Given the description of an element on the screen output the (x, y) to click on. 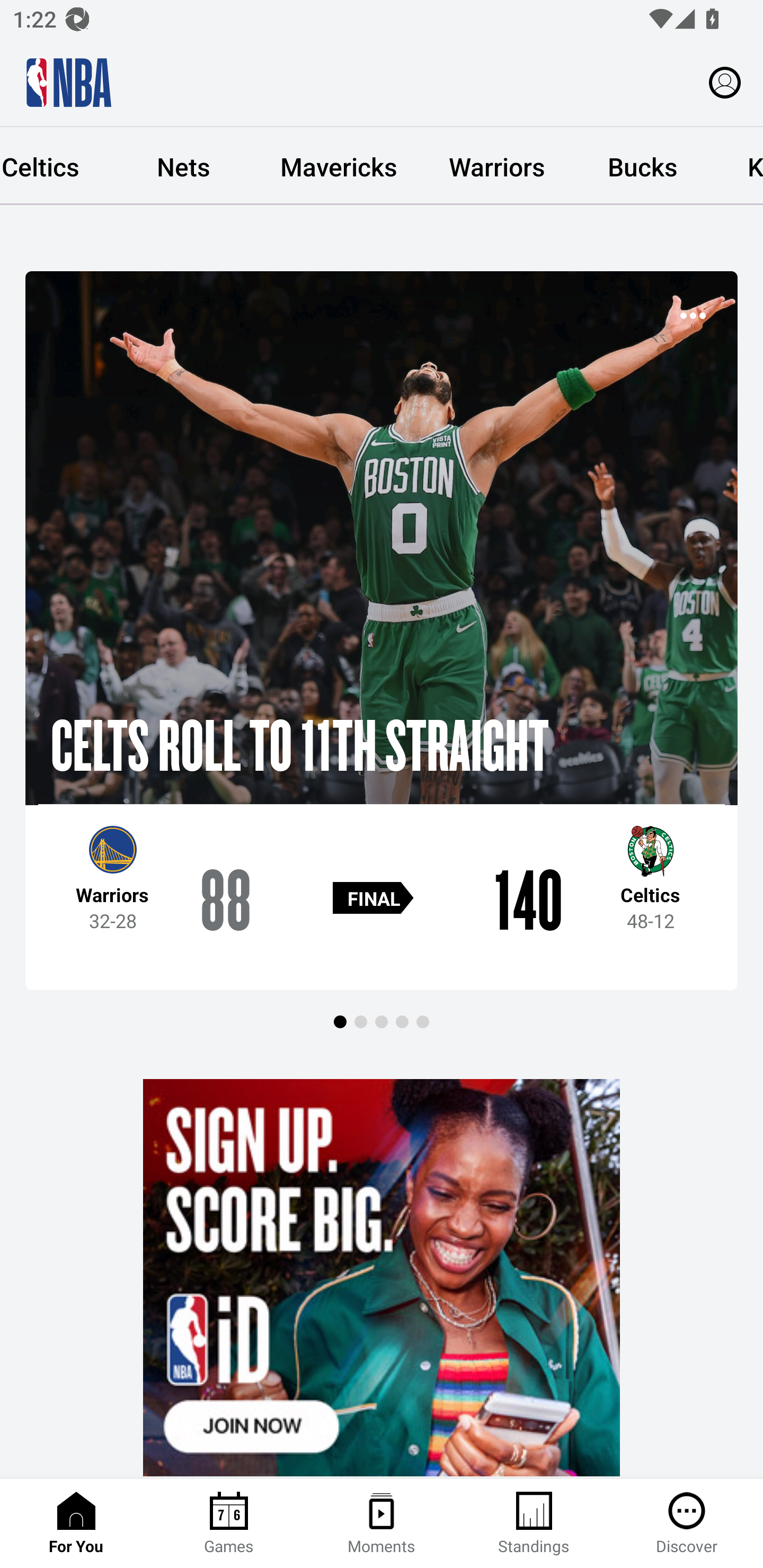
Profile (724, 81)
Celtics (56, 166)
Nets (183, 166)
Mavericks (338, 166)
Warriors (497, 166)
Bucks (642, 166)
Games (228, 1523)
Moments (381, 1523)
Standings (533, 1523)
Discover (686, 1523)
